Given the description of an element on the screen output the (x, y) to click on. 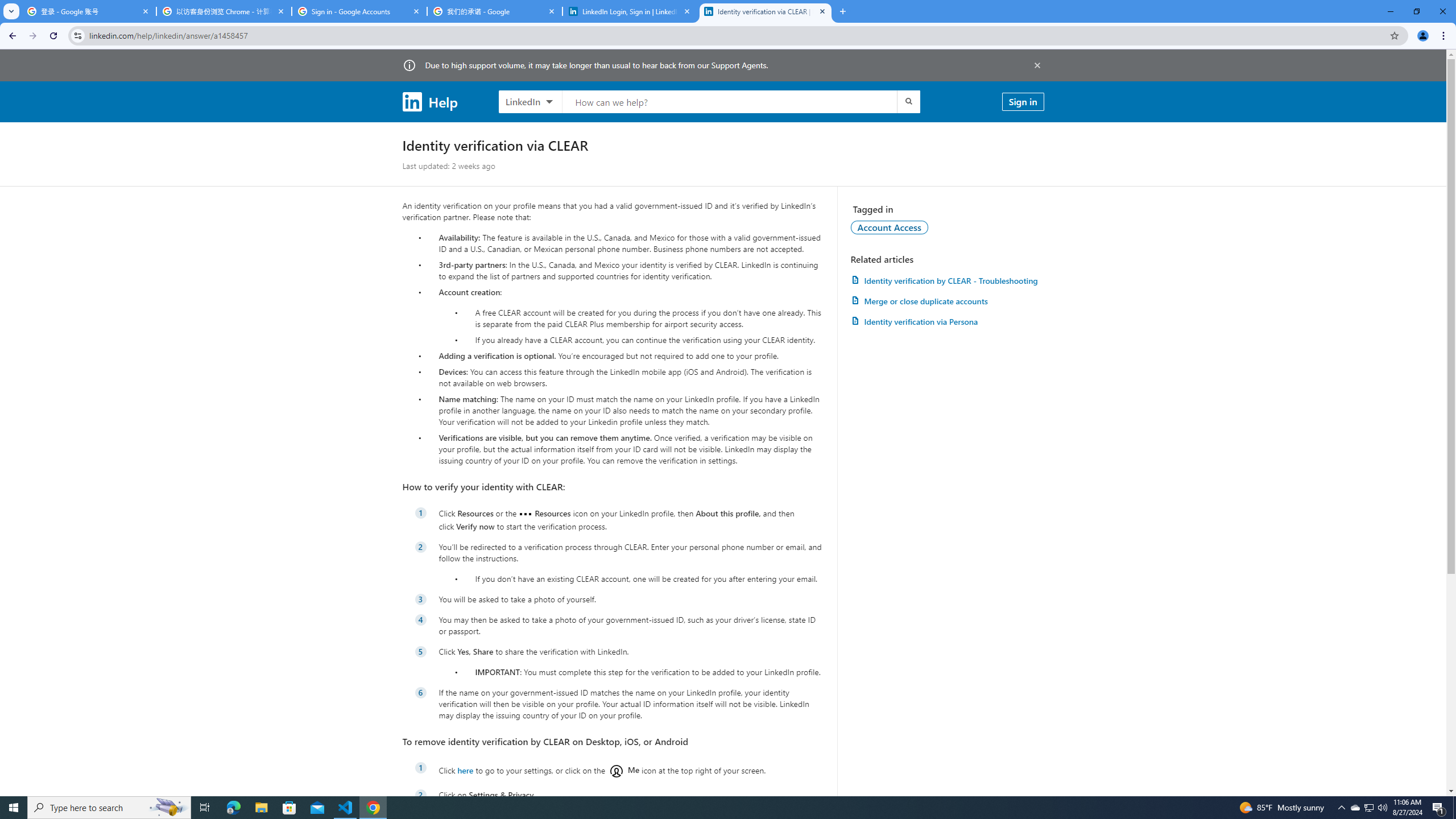
AutomationID: article-link-a1337200 (946, 300)
Submit search (908, 101)
AutomationID: article-link-a1631613 (946, 321)
LinkedIn products to search, LinkedIn selected (530, 101)
Identity verification via CLEAR | LinkedIn Help (765, 11)
LinkedIn Login, Sign in | LinkedIn (630, 11)
Account Access (889, 227)
